Given the description of an element on the screen output the (x, y) to click on. 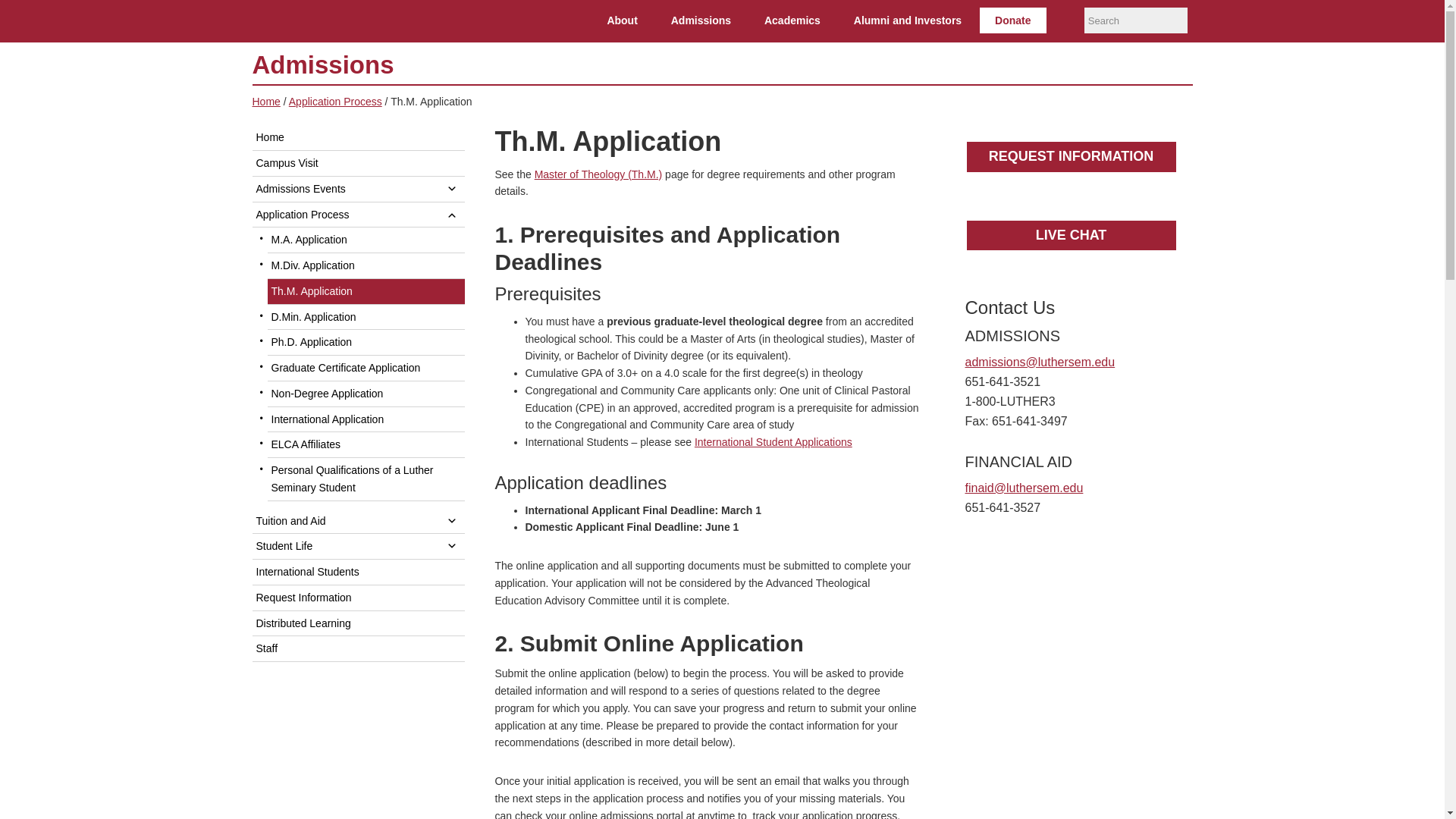
Alumni and Investors (907, 20)
Admissions (700, 20)
Luther Seminary (339, 21)
Luther Seminary (339, 21)
Academics (792, 20)
About (621, 20)
